Given the description of an element on the screen output the (x, y) to click on. 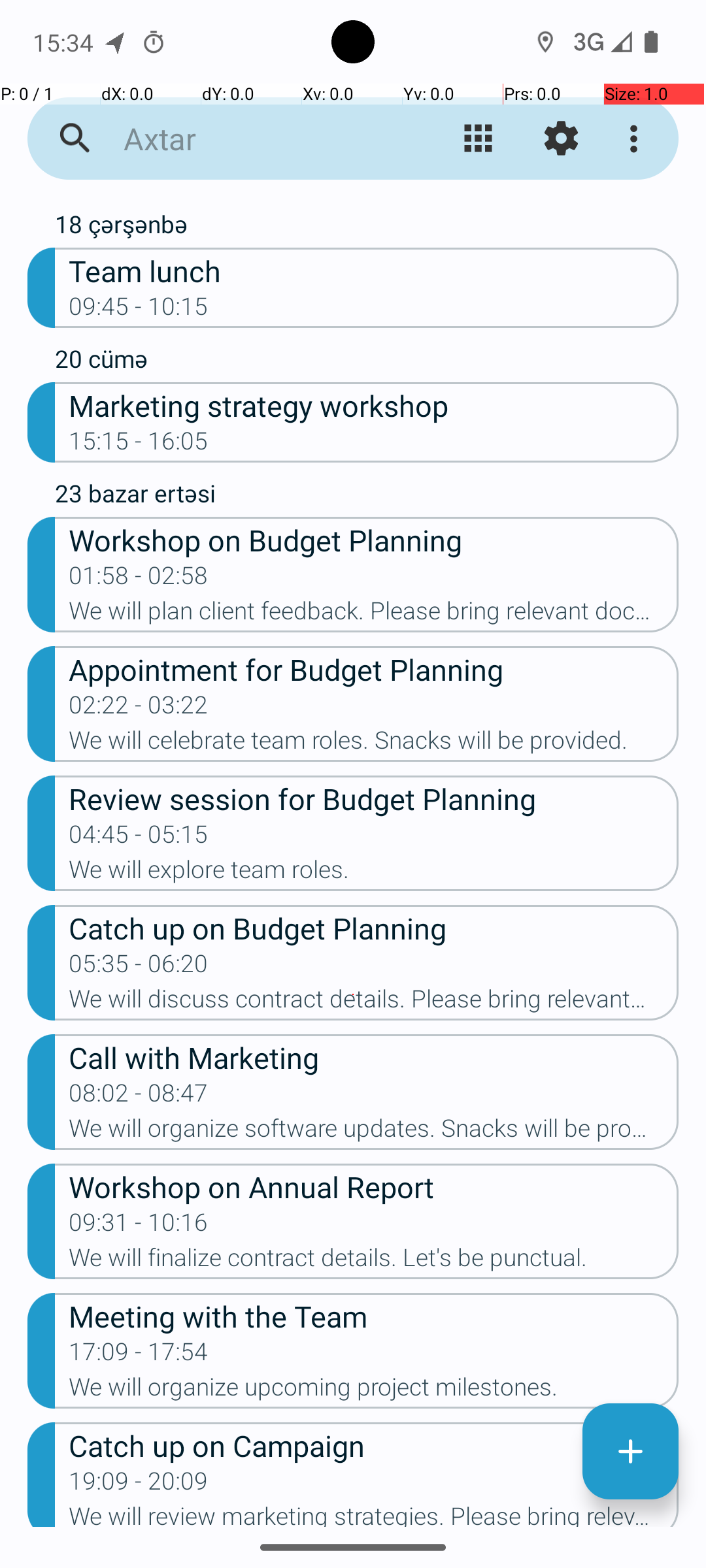
Axtar Element type: android.widget.EditText (252, 138)
Görünüşü dəyiş Element type: android.widget.Button (477, 138)
Parametrlər Element type: android.widget.Button (560, 138)
Digər seçimlər Element type: android.widget.ImageView (636, 138)
Yeni Hadisə Element type: android.widget.ImageButton (630, 1451)
18 çərşənbə Element type: android.widget.TextView (366, 227)
20 cümə Element type: android.widget.TextView (366, 361)
23 bazar ertəsi Element type: android.widget.TextView (366, 496)
Team lunch Element type: android.widget.TextView (373, 269)
09:45 - 10:15 Element type: android.widget.TextView (137, 309)
Marketing strategy workshop Element type: android.widget.TextView (373, 404)
15:15 - 16:05 Element type: android.widget.TextView (137, 444)
01:58 - 02:58 Element type: android.widget.TextView (137, 579)
We will plan client feedback. Please bring relevant documents. Element type: android.widget.TextView (373, 614)
02:22 - 03:22 Element type: android.widget.TextView (137, 708)
We will celebrate team roles. Snacks will be provided. Element type: android.widget.TextView (373, 743)
04:45 - 05:15 Element type: android.widget.TextView (137, 837)
We will explore team roles. Element type: android.widget.TextView (373, 873)
05:35 - 06:20 Element type: android.widget.TextView (137, 967)
We will discuss contract details. Please bring relevant documents. Element type: android.widget.TextView (373, 1002)
08:02 - 08:47 Element type: android.widget.TextView (137, 1096)
We will organize software updates. Snacks will be provided. Element type: android.widget.TextView (373, 1131)
09:31 - 10:16 Element type: android.widget.TextView (137, 1225)
We will finalize contract details. Let's be punctual. Element type: android.widget.TextView (373, 1261)
17:09 - 17:54 Element type: android.widget.TextView (137, 1355)
We will organize upcoming project milestones. Element type: android.widget.TextView (373, 1390)
19:09 - 20:09 Element type: android.widget.TextView (137, 1484)
We will review marketing strategies. Please bring relevant documents. Element type: android.widget.TextView (373, 1514)
